Given the description of an element on the screen output the (x, y) to click on. 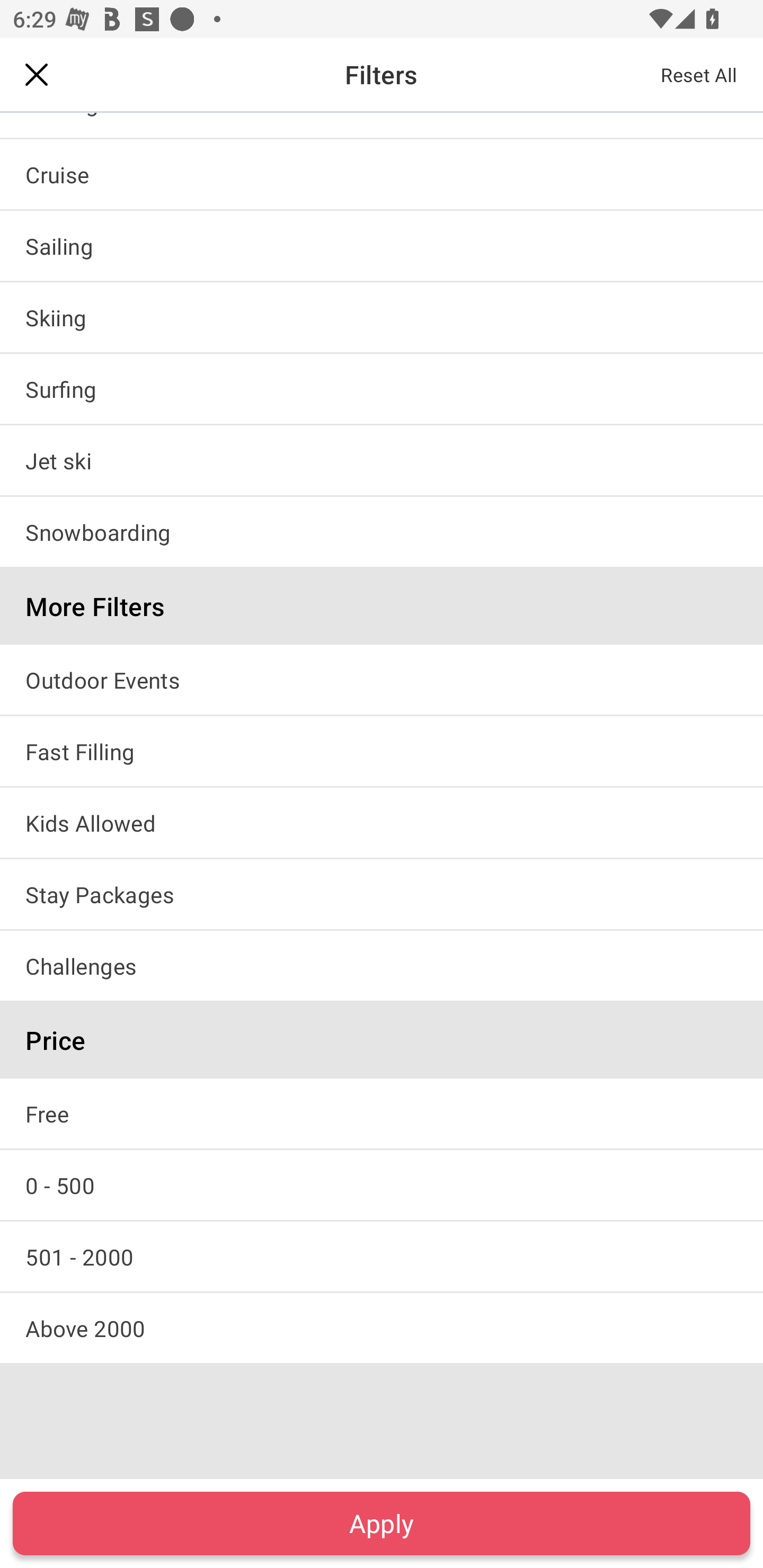
Close (36, 74)
Reset All (699, 74)
Cruise (381, 173)
Sailing (381, 245)
Skiing (381, 317)
Surfing (381, 388)
Jet ski (381, 459)
Snowboarding (381, 531)
Outdoor Events (381, 679)
Fast Filling (381, 750)
Kids Allowed (381, 822)
Stay Packages (381, 894)
Challenges (381, 965)
Free (381, 1112)
0 - 500 (381, 1184)
501 - 2000 (381, 1256)
Above 2000 (381, 1327)
Apply (381, 1523)
